Given the description of an element on the screen output the (x, y) to click on. 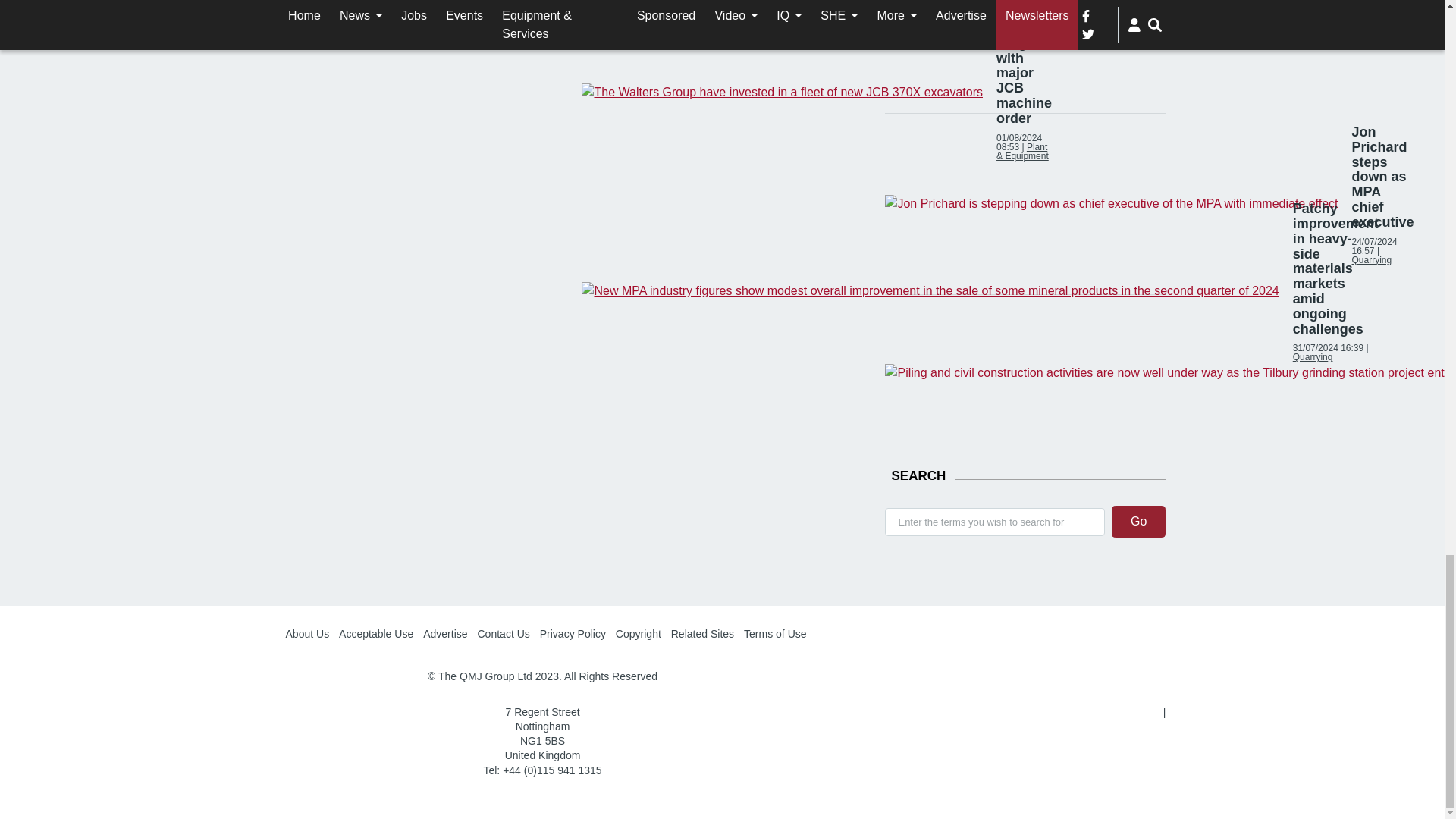
Go (1139, 521)
